Given the description of an element on the screen output the (x, y) to click on. 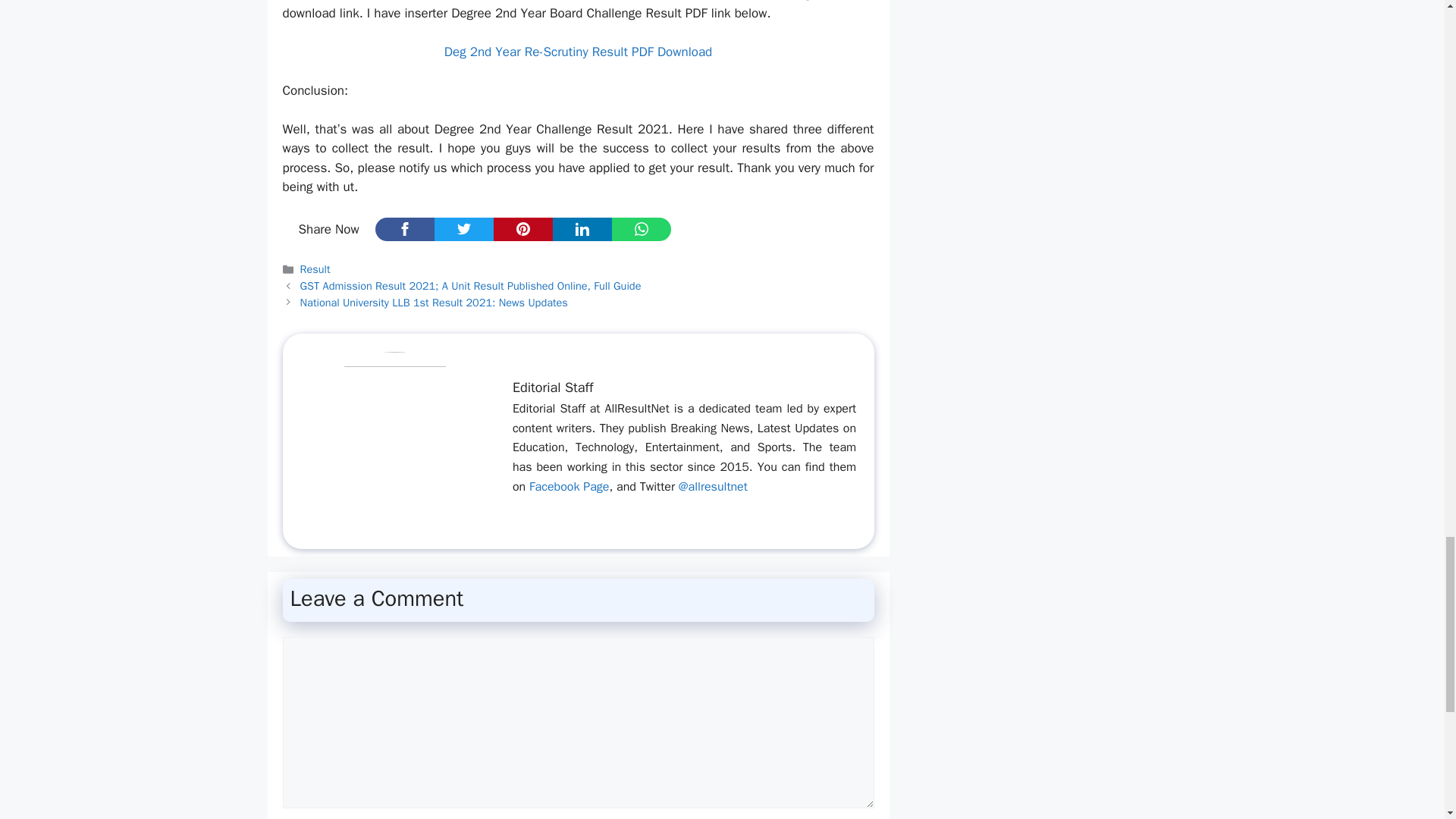
Deg 2nd Year Re-Scrutiny Result PDF Download (577, 51)
Facebook Page (568, 486)
National University LLB 1st Result 2021: News Updates (433, 302)
Result (314, 269)
